Given the description of an element on the screen output the (x, y) to click on. 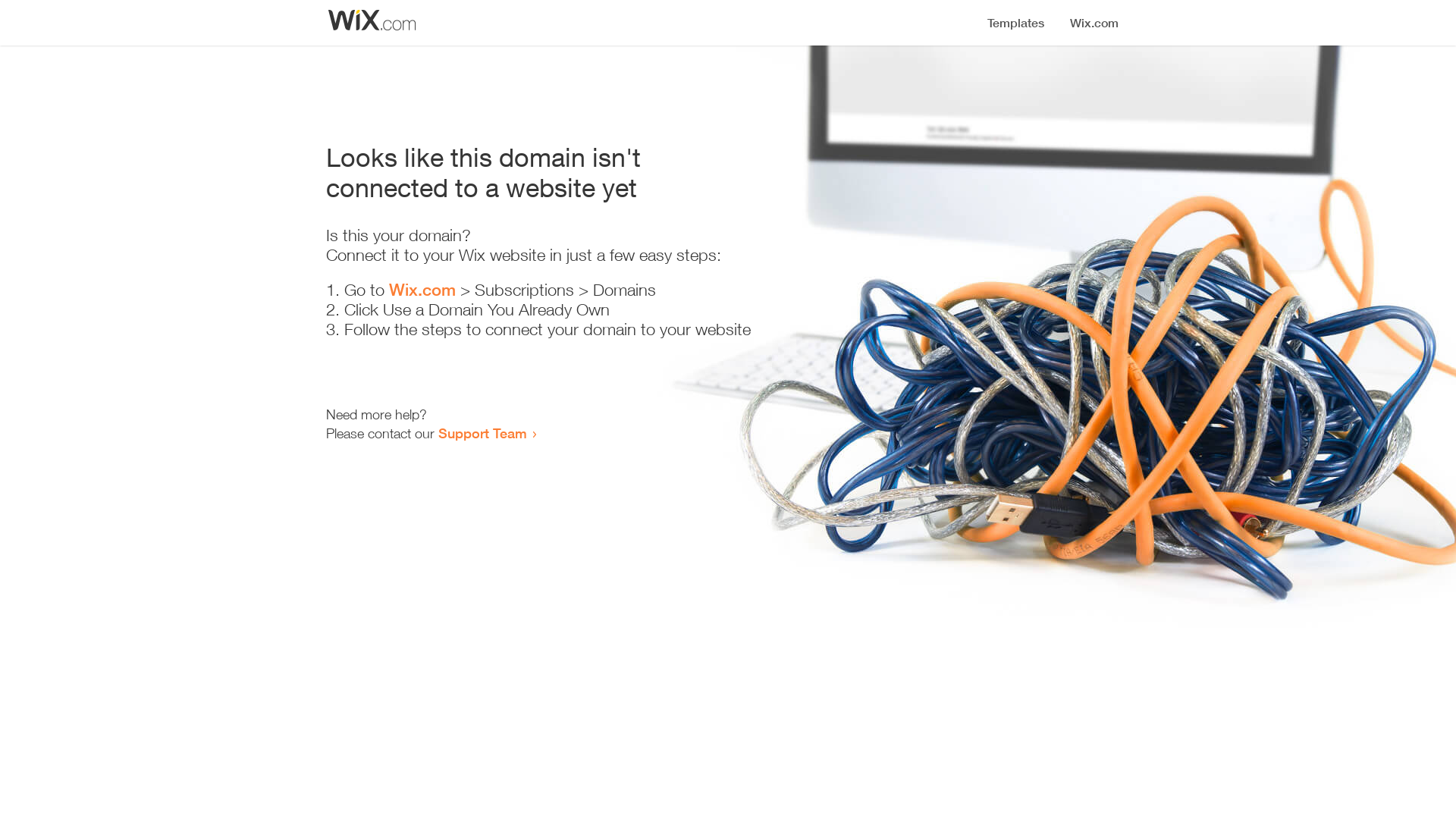
Support Team Element type: text (482, 432)
Wix.com Element type: text (422, 289)
